Given the description of an element on the screen output the (x, y) to click on. 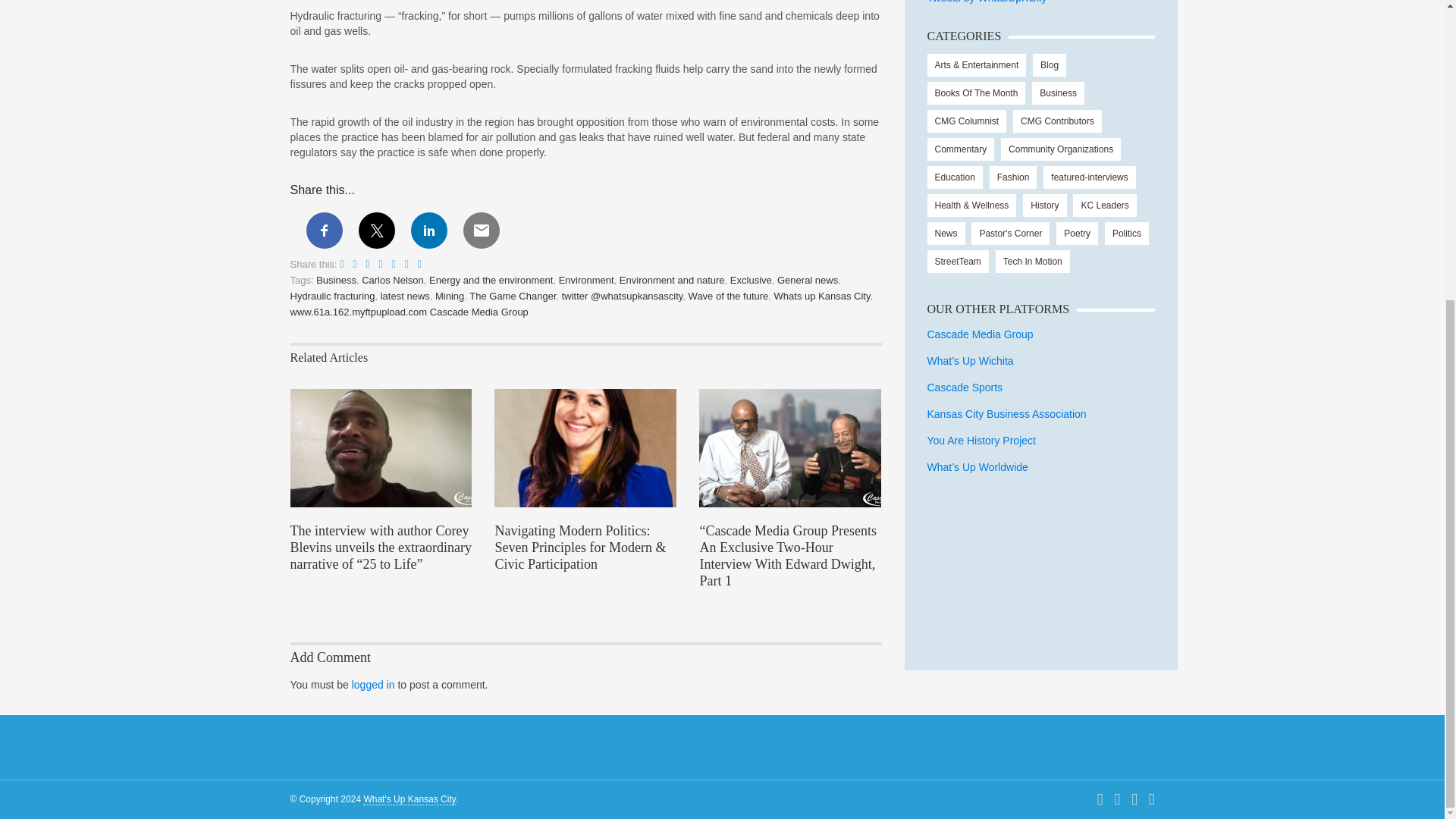
Exclusive (750, 279)
Whats up Kansas City (822, 296)
Environment (586, 279)
www.61a.162.myftpupload.com Cascade Media Group (408, 311)
The Game Changer (512, 296)
Carlos Nelson (392, 279)
Business (335, 279)
Hydraulic fracturing (331, 296)
Environment and nature (672, 279)
latest news (404, 296)
General news (807, 279)
Energy and the environment (491, 279)
Wave of the future (728, 296)
Mining (449, 296)
